Given the description of an element on the screen output the (x, y) to click on. 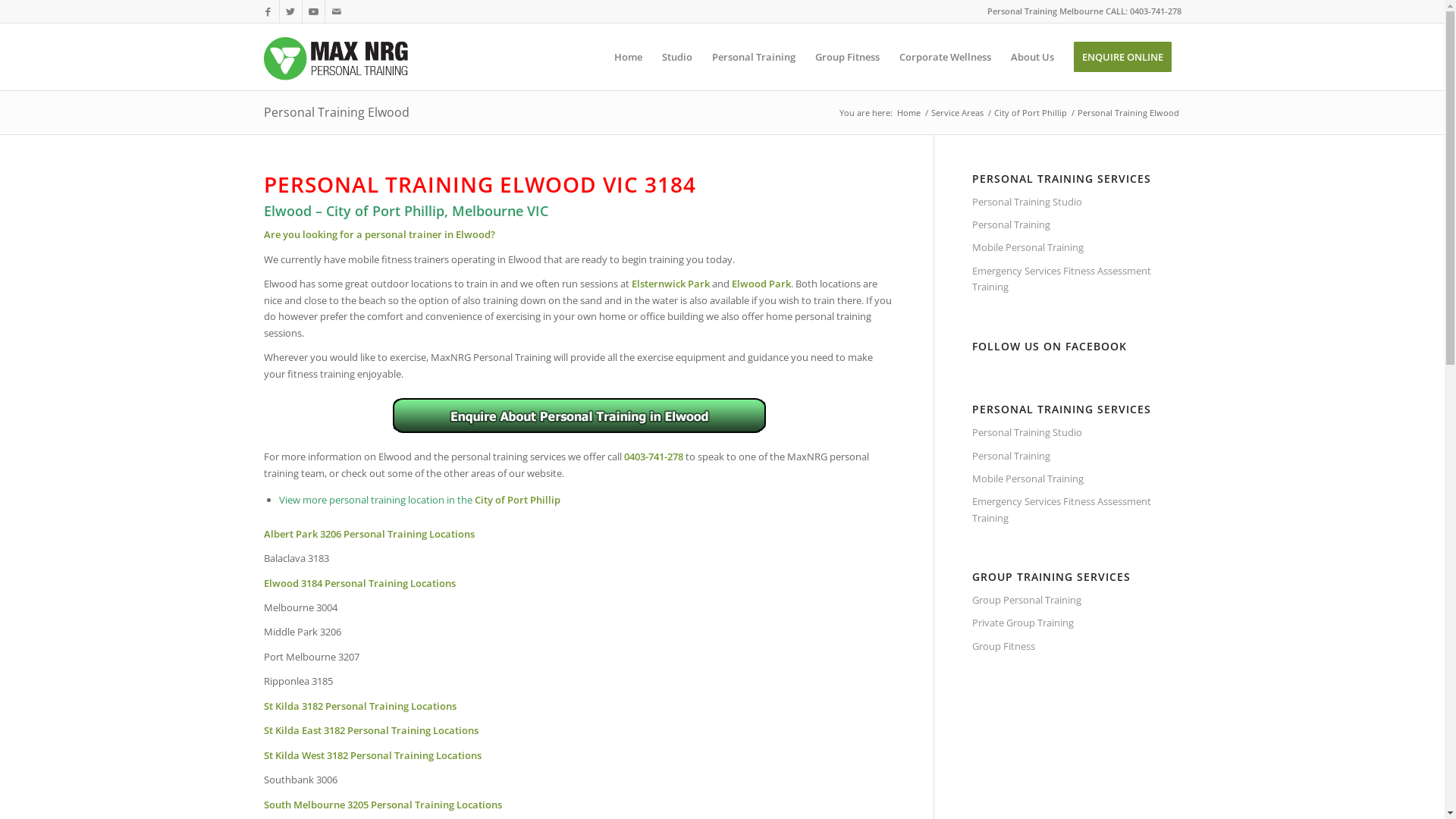
Personal Training Elwood Element type: text (336, 111)
St Kilda East 3182 Personal Training Locations Element type: text (370, 730)
Mail Element type: hover (335, 11)
Personal Training Element type: text (1076, 224)
Personal Training Element type: text (753, 56)
City of Port Phillip Element type: text (1030, 112)
Twitter Element type: hover (290, 11)
Group Personal Training Element type: text (1076, 600)
Service Areas Element type: text (956, 112)
Youtube Element type: hover (312, 11)
St Kilda 3182 Personal Training Locations Element type: text (359, 705)
ENQUIRE ONLINE Element type: text (1121, 56)
Personal Training Studio Element type: text (1076, 432)
About Us Element type: text (1032, 56)
Mobile Personal Training Element type: text (1076, 478)
Corporate Wellness Element type: text (944, 56)
Emergency Services Fitness Assessment Training Element type: text (1076, 279)
Personal Training Studio Element type: text (1076, 202)
Albert Park 3206 Personal Training Locations Element type: text (368, 533)
Facebook Element type: hover (267, 11)
Contact Us about Personal Training in Elwood Element type: hover (579, 415)
Group Fitness Element type: text (1076, 646)
Personal Training Element type: text (1076, 456)
St Kilda West 3182 Personal Training Locations Element type: text (372, 755)
Private Group Training Element type: text (1076, 622)
Emergency Services Fitness Assessment Training Element type: text (1076, 510)
Elwood 3184 Personal Training Locations Element type: text (359, 582)
South Melbourne 3205 Personal Training Locations Element type: text (382, 804)
City of Port Phillip Element type: text (517, 499)
Mobile Personal Training Element type: text (1076, 247)
Home Element type: text (627, 56)
Group Fitness Element type: text (847, 56)
Home Element type: text (908, 112)
Studio Element type: text (677, 56)
